Given the description of an element on the screen output the (x, y) to click on. 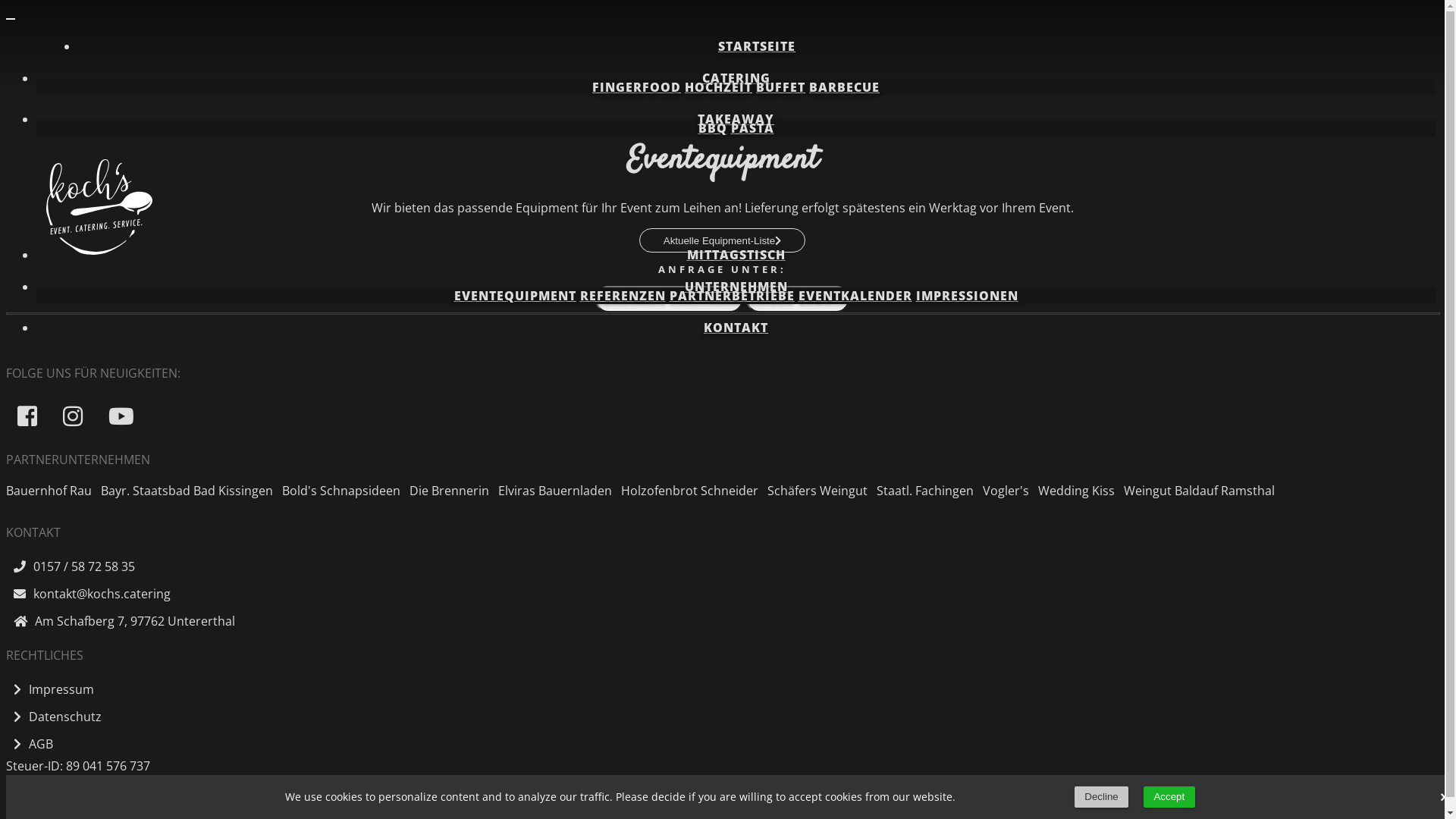
WhatsApp Element type: text (797, 298)
WhatsApp Element type: text (798, 298)
0157 / 58 72 58 35 Element type: text (669, 298)
STARTSEITE Element type: text (756, 45)
PARTNERBETRIEBE Element type: text (730, 295)
KONTAKT Element type: text (735, 327)
Accept Element type: text (1168, 796)
EVENTEQUIPMENT Element type: text (514, 295)
BARBECUE Element type: text (844, 86)
PASCAL KOCH MEDIENDESIGN Element type: text (142, 792)
CATERING Element type: text (736, 77)
IMPRESSIONEN Element type: text (967, 295)
AGB Element type: text (29, 743)
REFERENZEN Element type: text (622, 295)
0157 / 58 72 58 35 Element type: text (669, 298)
BBQ Element type: text (711, 127)
Datenschutz Element type: text (53, 716)
FINGERFOOD Element type: text (636, 86)
MITTAGSTISCH Element type: text (736, 254)
EVENTKALENDER Element type: text (854, 295)
PASTA Element type: text (752, 127)
kontakt@kochs.catering Element type: text (88, 593)
Impressum Element type: text (50, 688)
Aktuelle Equipment-Liste Element type: text (722, 239)
Decline Element type: text (1101, 796)
Aktuelle Equipment-Liste Element type: text (722, 240)
TAKEAWAY Element type: text (735, 118)
0157 / 58 72 58 35 Element type: text (722, 566)
BUFFET Element type: text (780, 86)
HOCHZEIT Element type: text (718, 86)
UNTERNEHMEN Element type: text (735, 286)
